Given the description of an element on the screen output the (x, y) to click on. 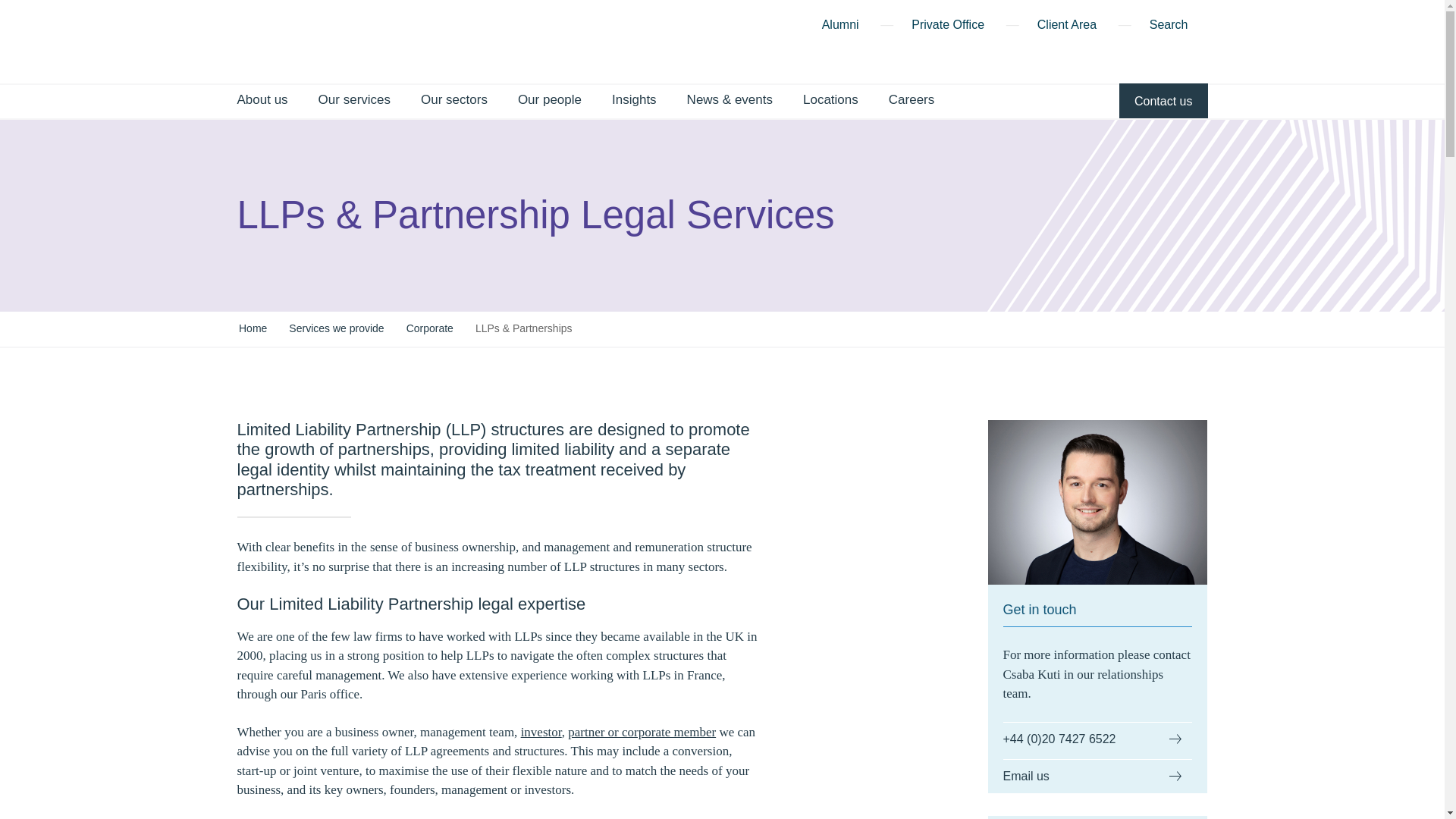
Search (1179, 26)
Email us (1097, 776)
partner or corporate member (641, 731)
Our services (354, 100)
Our sectors (453, 100)
Alumni (840, 26)
Client Area (1066, 26)
About us (260, 100)
Private Office (947, 26)
